Given the description of an element on the screen output the (x, y) to click on. 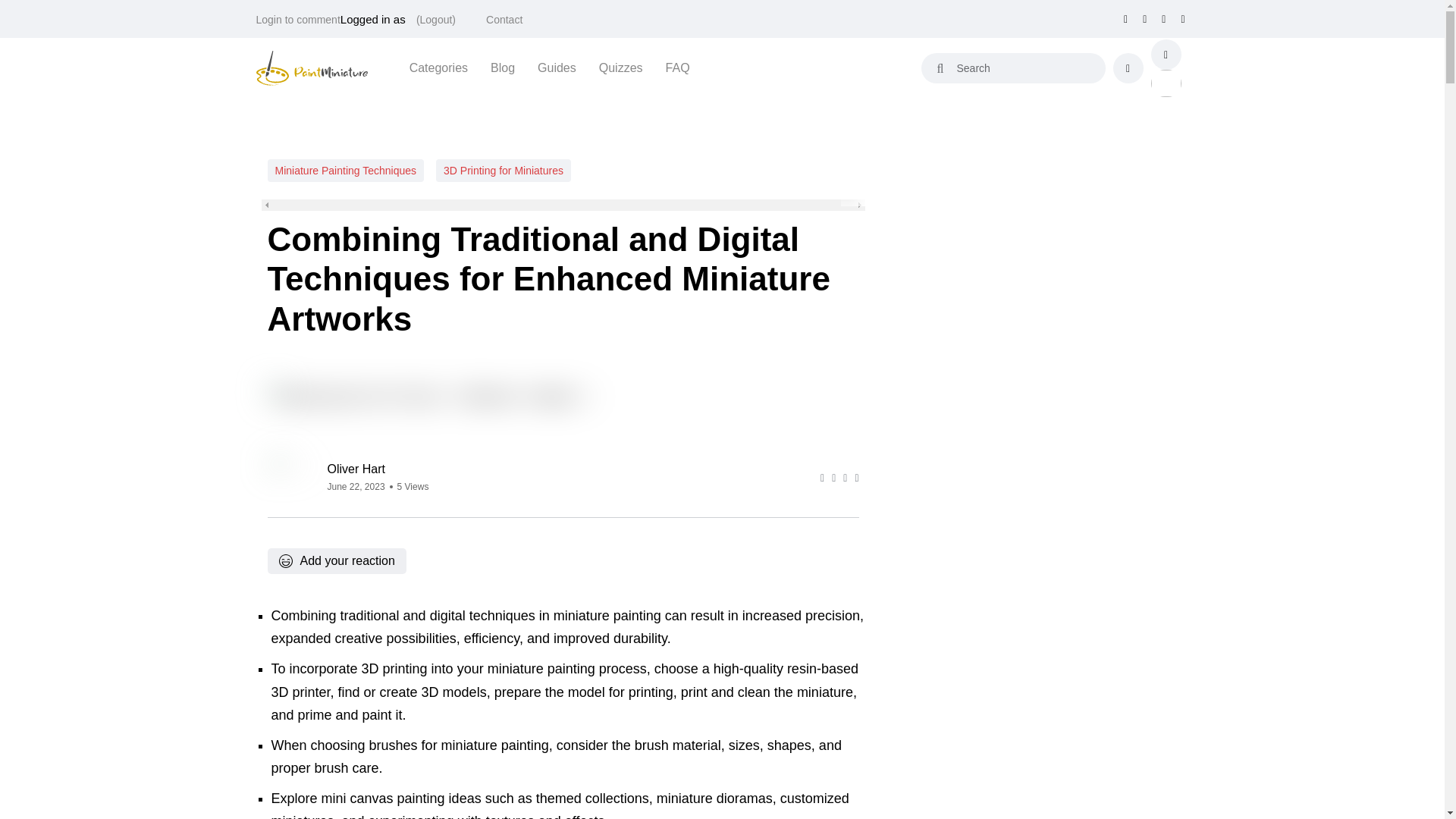
Contact (504, 19)
Categories (438, 67)
Login to comment (298, 19)
